Given the description of an element on the screen output the (x, y) to click on. 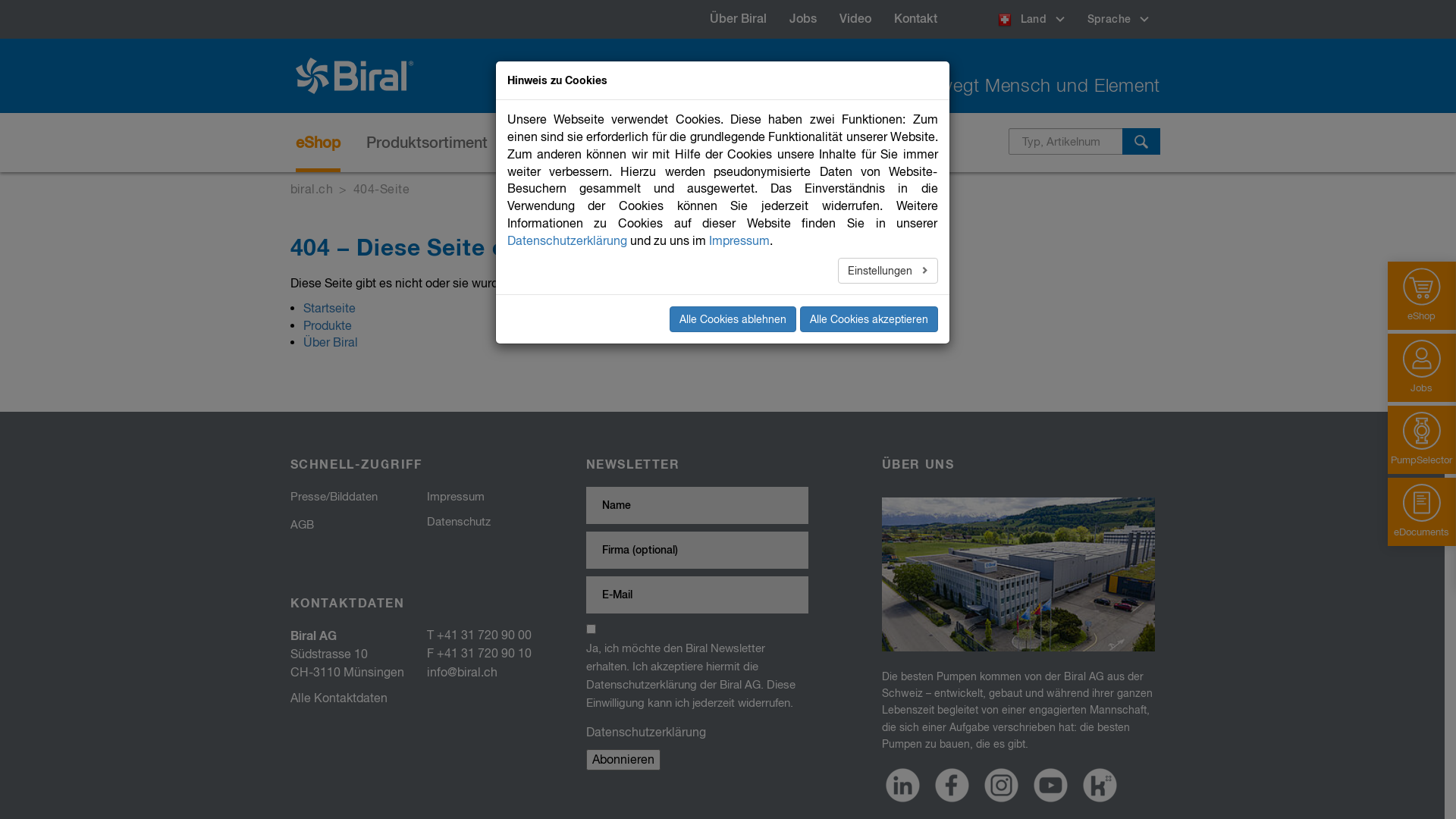
Produkte Element type: text (327, 325)
Einstellungen Element type: text (887, 270)
Sprache Element type: text (1118, 18)
Jobs Element type: text (803, 18)
Impressum Element type: text (454, 496)
Impressum Element type: text (738, 240)
Alle Cookies akzeptieren Element type: text (868, 319)
info@biral.ch Element type: text (461, 672)
Biral Element type: text (359, 75)
Land Element type: text (1031, 19)
eShop Element type: text (317, 142)
Alle Cookies ablehnen Element type: text (731, 319)
Kontakt Element type: text (915, 18)
Video Element type: text (855, 18)
Service & Support Element type: text (576, 142)
Produktsortiment Element type: text (426, 142)
Alle Kontaktdaten Element type: text (337, 697)
AGB Element type: text (301, 524)
Campus Element type: text (818, 142)
biral.ch Element type: text (310, 189)
Presse/Bilddaten Element type: text (332, 496)
Datenschutz Element type: text (457, 521)
404-Seite Element type: text (381, 189)
Startseite Element type: text (329, 308)
Abonnieren Element type: text (622, 760)
Showroom Element type: text (910, 142)
T +41 31 720 90 00 Element type: text (478, 634)
Planungstools Element type: text (714, 142)
